Given the description of an element on the screen output the (x, y) to click on. 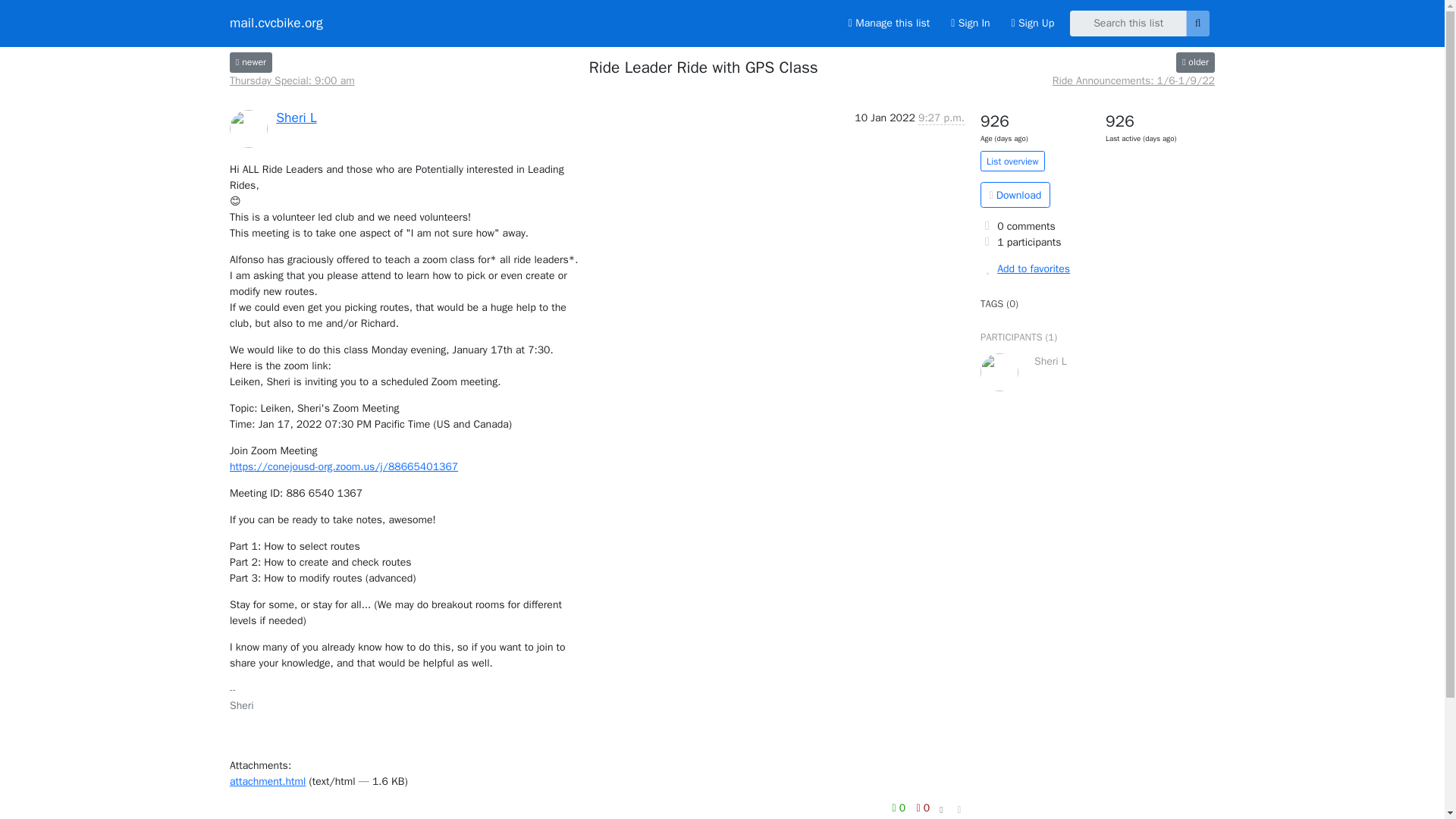
0 (922, 807)
You must be logged-in to vote. (922, 807)
older (1195, 61)
Thursday Special: 9:00 am (251, 61)
attachment.html (267, 780)
Thursday Special: 9:00 am (292, 80)
Sign Up (1033, 22)
Manage this list (889, 22)
See the profile for Sheri L (295, 117)
Sign in to reply online (246, 818)
newer (251, 61)
Reply (246, 818)
Sender's time: Jan. 10, 2022, 9:27 p.m. (940, 118)
Thursday Special: 9:00 am (292, 80)
You must be logged-in to have favorites. (1096, 268)
